Given the description of an element on the screen output the (x, y) to click on. 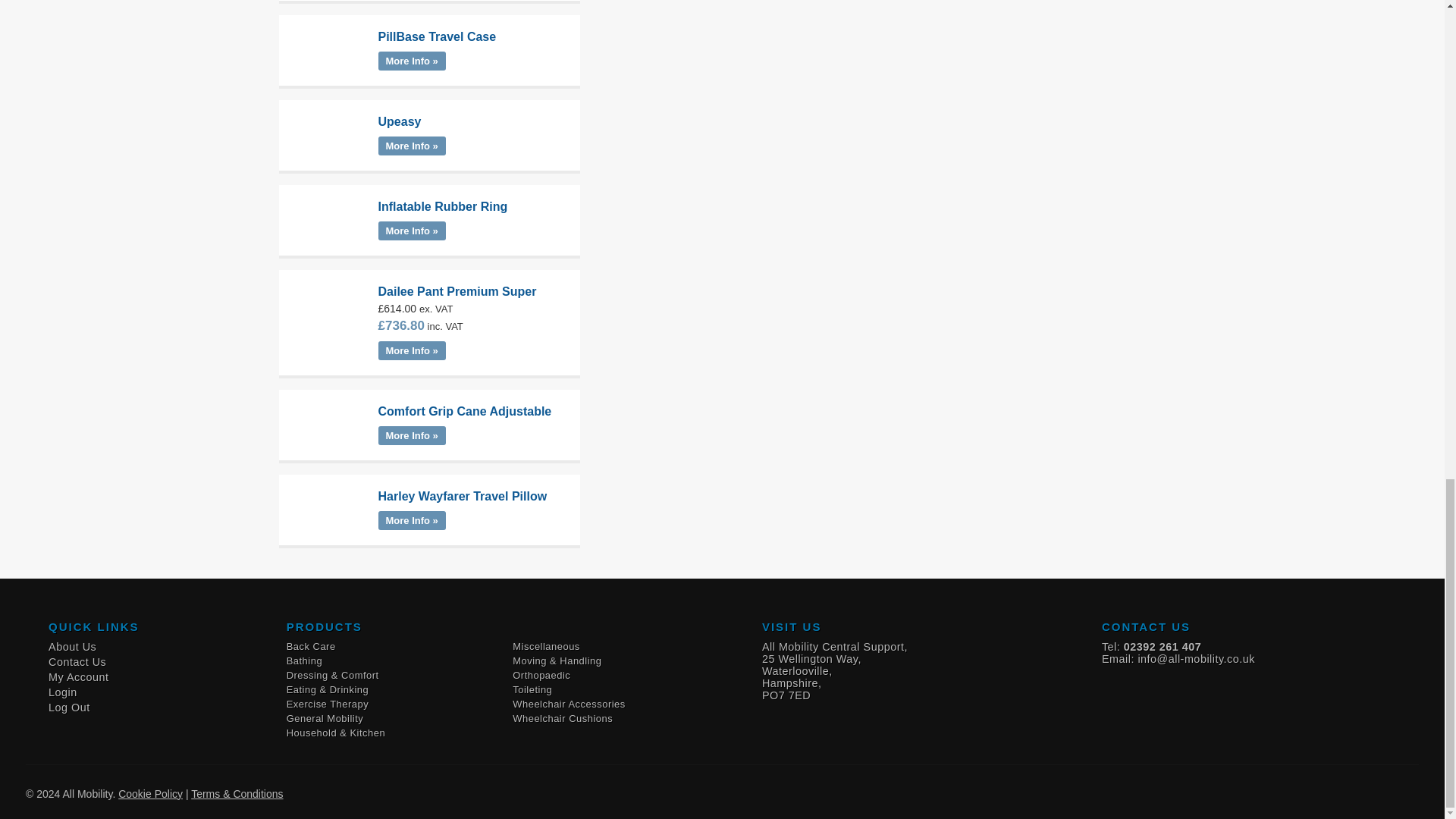
My Account (77, 676)
Log Out (69, 706)
Back Care (311, 645)
About Us (72, 646)
Contact Us (77, 660)
Bathing (303, 660)
Login (62, 691)
